Given the description of an element on the screen output the (x, y) to click on. 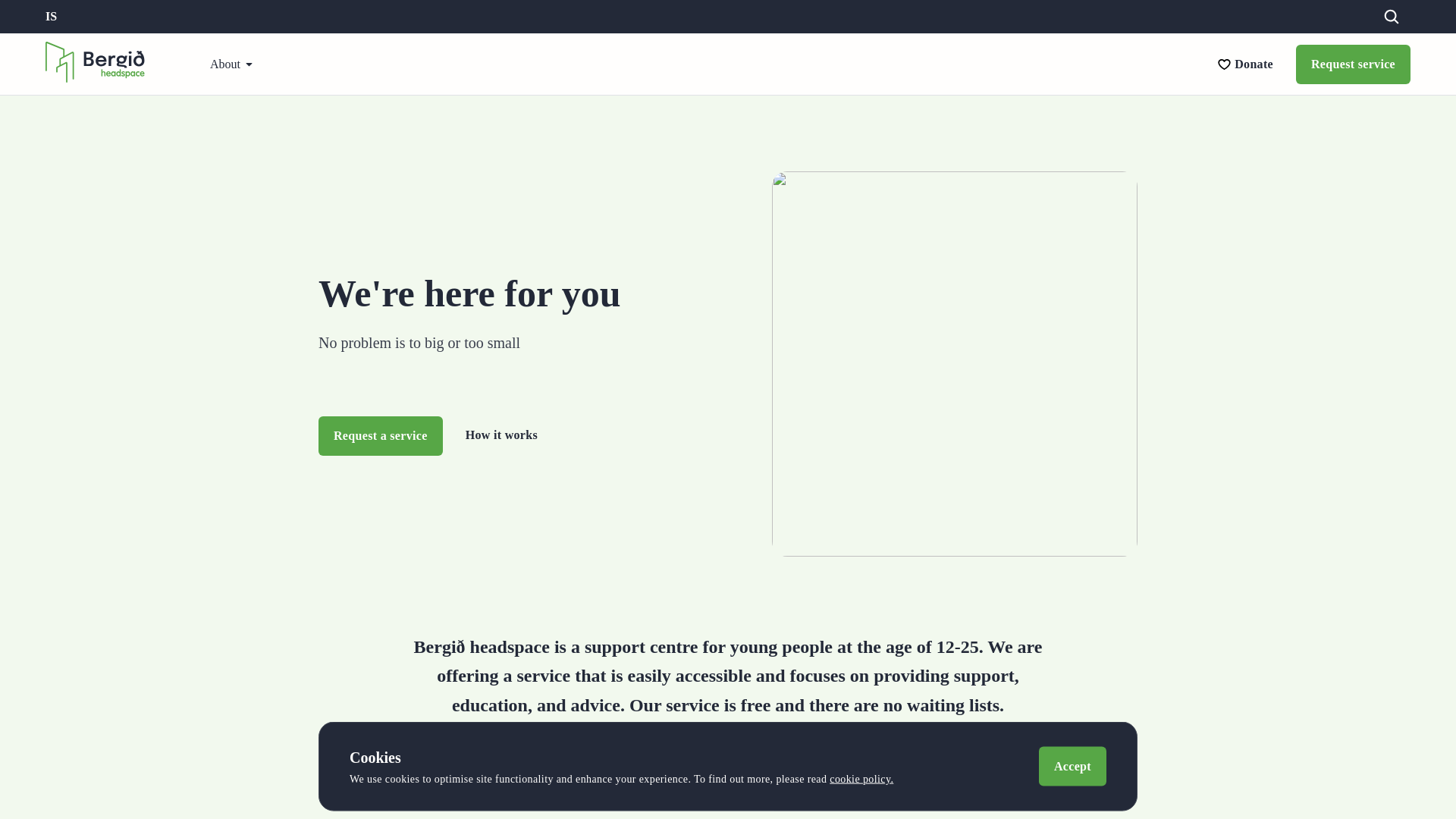
Donate (1253, 63)
cookie policy. (861, 778)
Request service (1352, 63)
Accept (1072, 766)
Request a service (380, 435)
How it works (501, 435)
IS (50, 16)
